Given the description of an element on the screen output the (x, y) to click on. 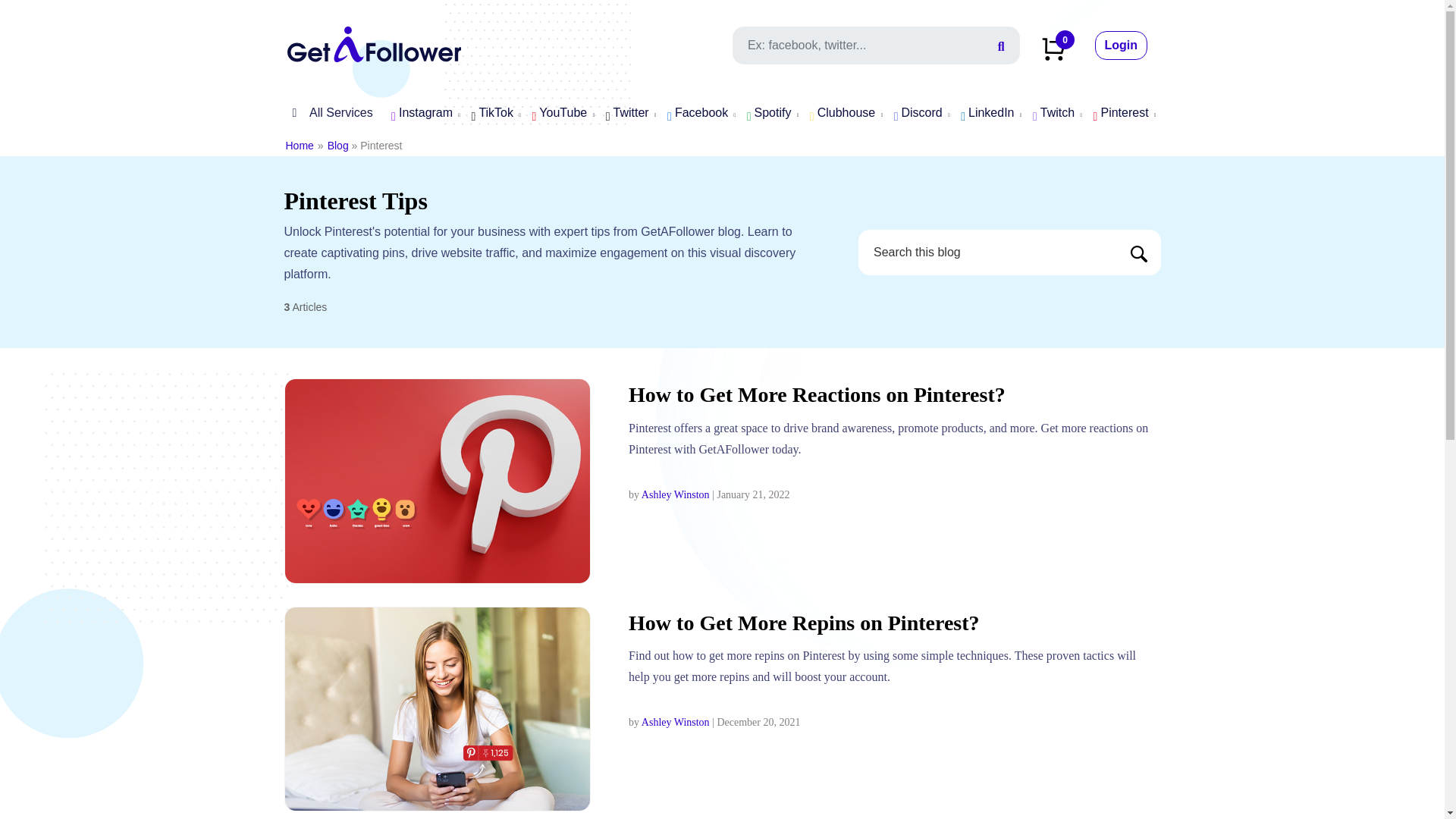
Go (1139, 253)
Instagram (422, 114)
All Services (327, 112)
Go (1139, 253)
0 (1053, 47)
Login (1121, 45)
GetAFollower (373, 42)
